Given the description of an element on the screen output the (x, y) to click on. 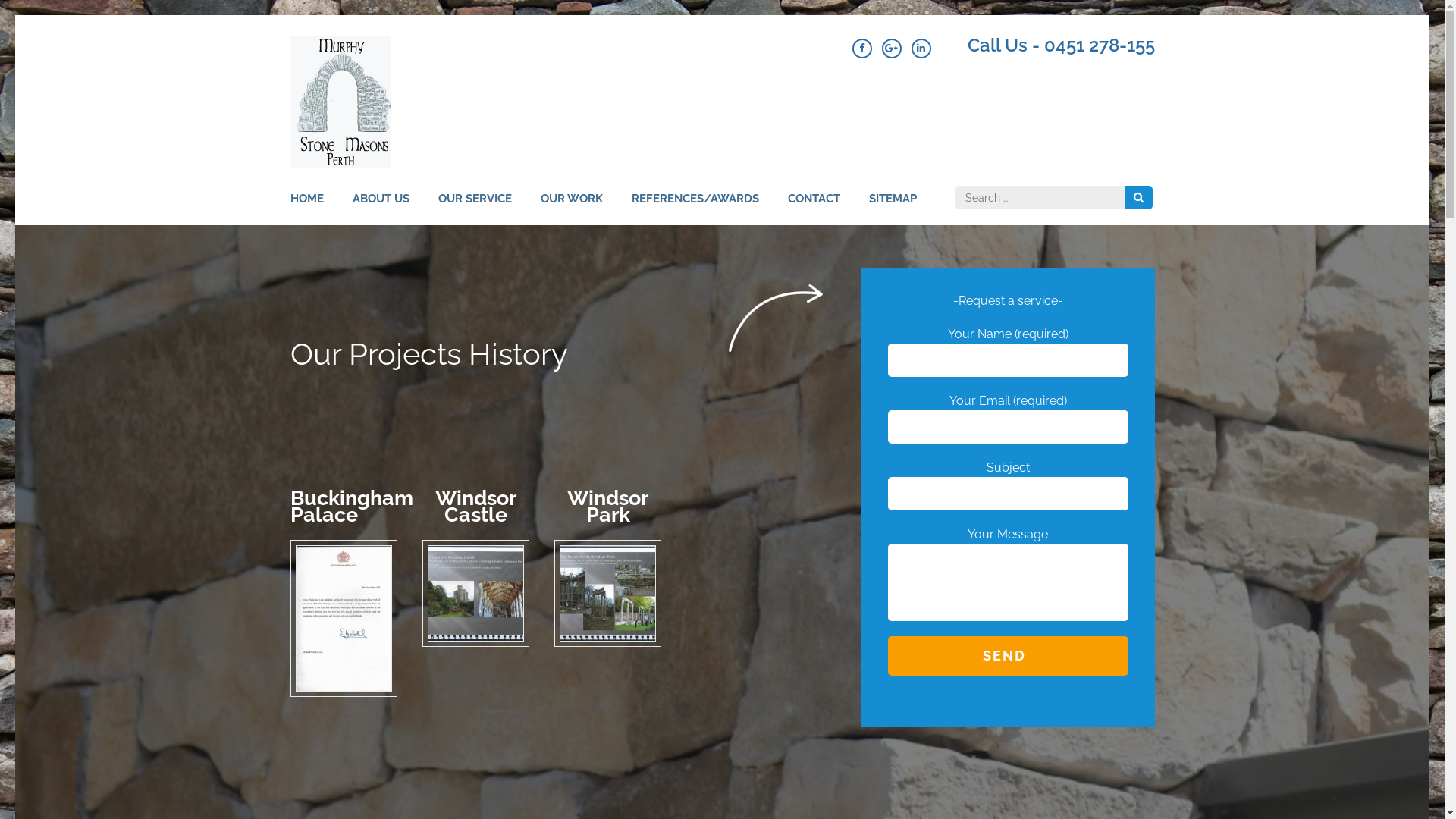
REFERENCES/AWARDS Element type: text (694, 207)
Facebook Element type: hover (862, 48)
Windsor Castle Element type: hover (475, 593)
Google Plus Element type: hover (890, 48)
LinkedIn Element type: hover (921, 48)
CONTACT Element type: text (813, 207)
Search Element type: text (1137, 197)
Buckingham Palace Element type: hover (343, 618)
Call Us - 0451 278-155 Element type: text (1060, 45)
OUR SERVICE Element type: text (474, 207)
Send Element type: text (1007, 655)
HOME Element type: text (306, 207)
OUR WORK Element type: text (570, 207)
ABOUT US Element type: text (379, 207)
windsor park Element type: hover (607, 593)
SITEMAP Element type: text (892, 207)
